Given the description of an element on the screen output the (x, y) to click on. 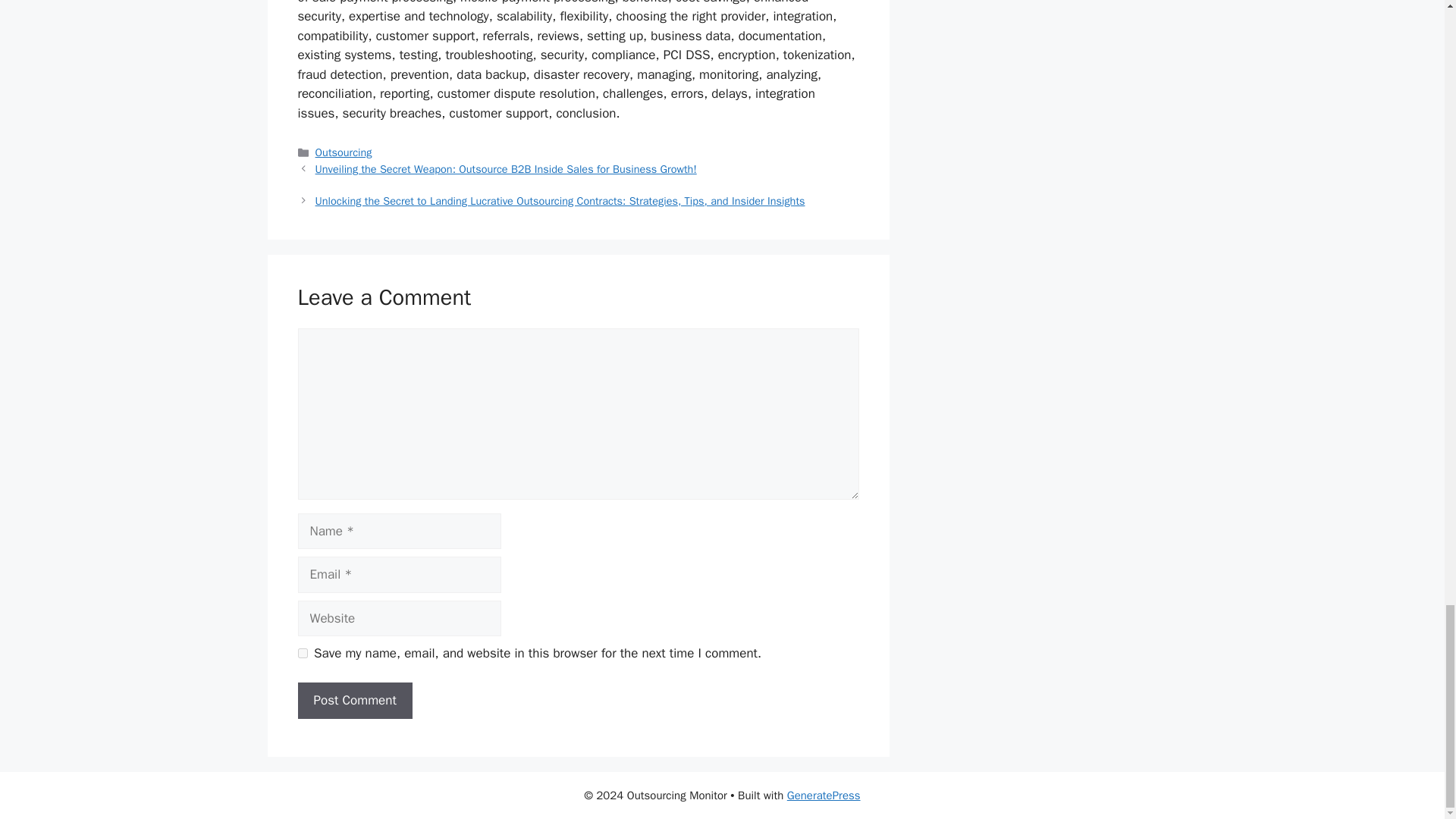
Outsourcing (343, 151)
Post Comment (354, 700)
Post Comment (354, 700)
yes (302, 653)
